Given the description of an element on the screen output the (x, y) to click on. 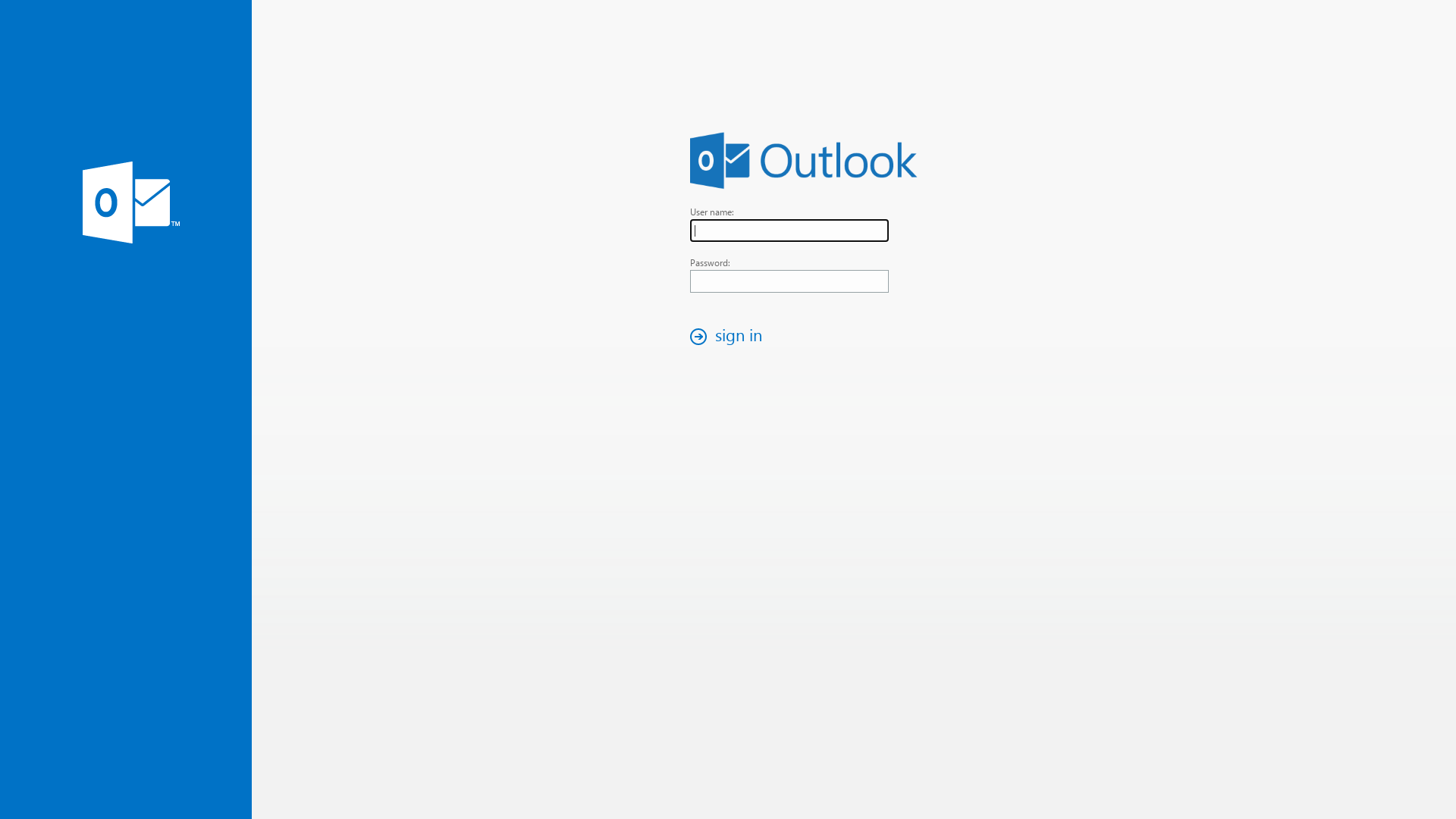
sign in Element type: text (730, 336)
